Given the description of an element on the screen output the (x, y) to click on. 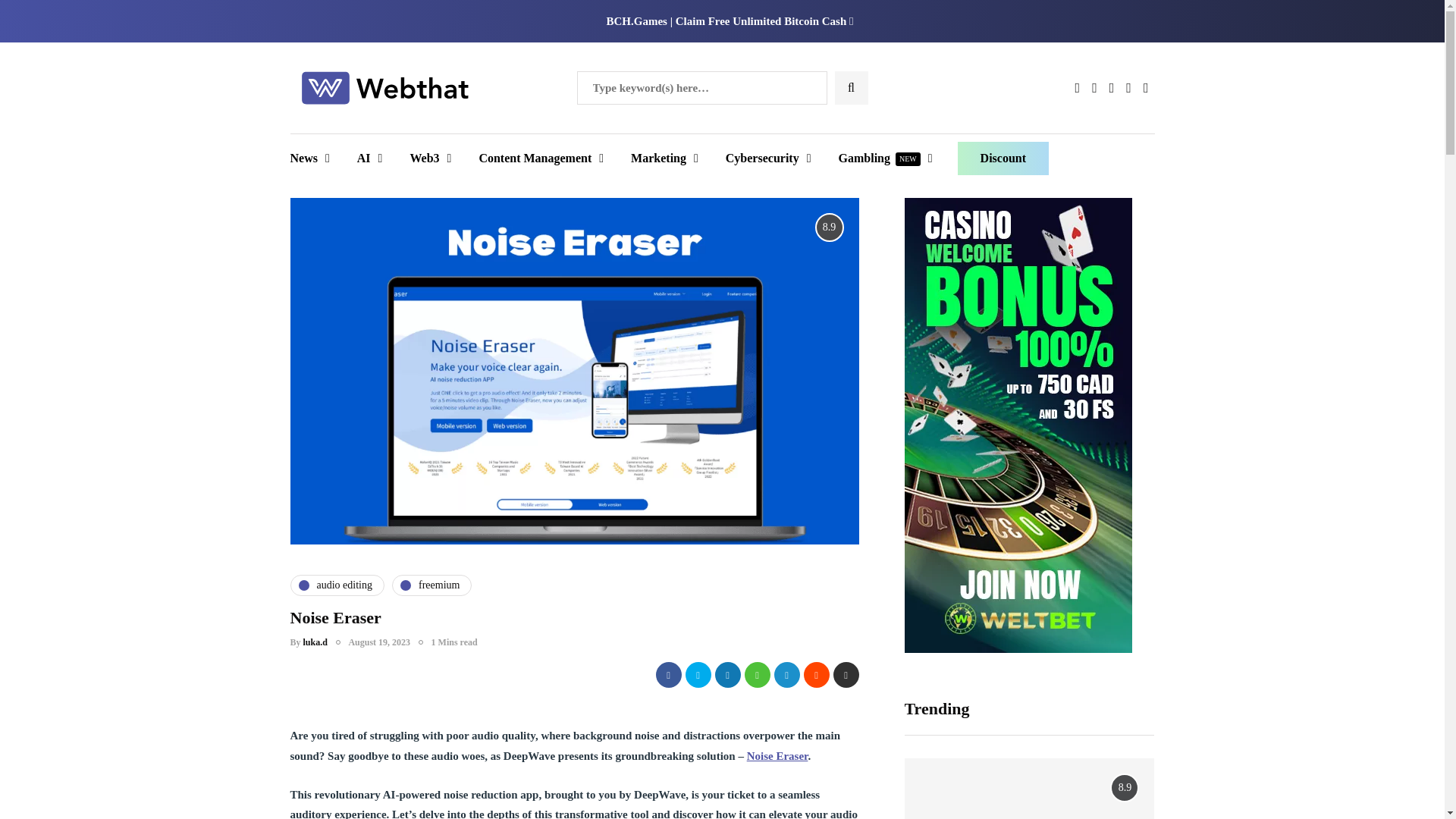
Share with Facebook (668, 674)
Share with LinkedIn (726, 674)
Search (41, 16)
Tweet this (698, 674)
Share to WhatsApp (757, 674)
Share to Telegram (786, 674)
AI (369, 158)
Share on Reddit (816, 674)
Share by Email (845, 674)
News (315, 158)
Posts by luka.d (314, 642)
